Given the description of an element on the screen output the (x, y) to click on. 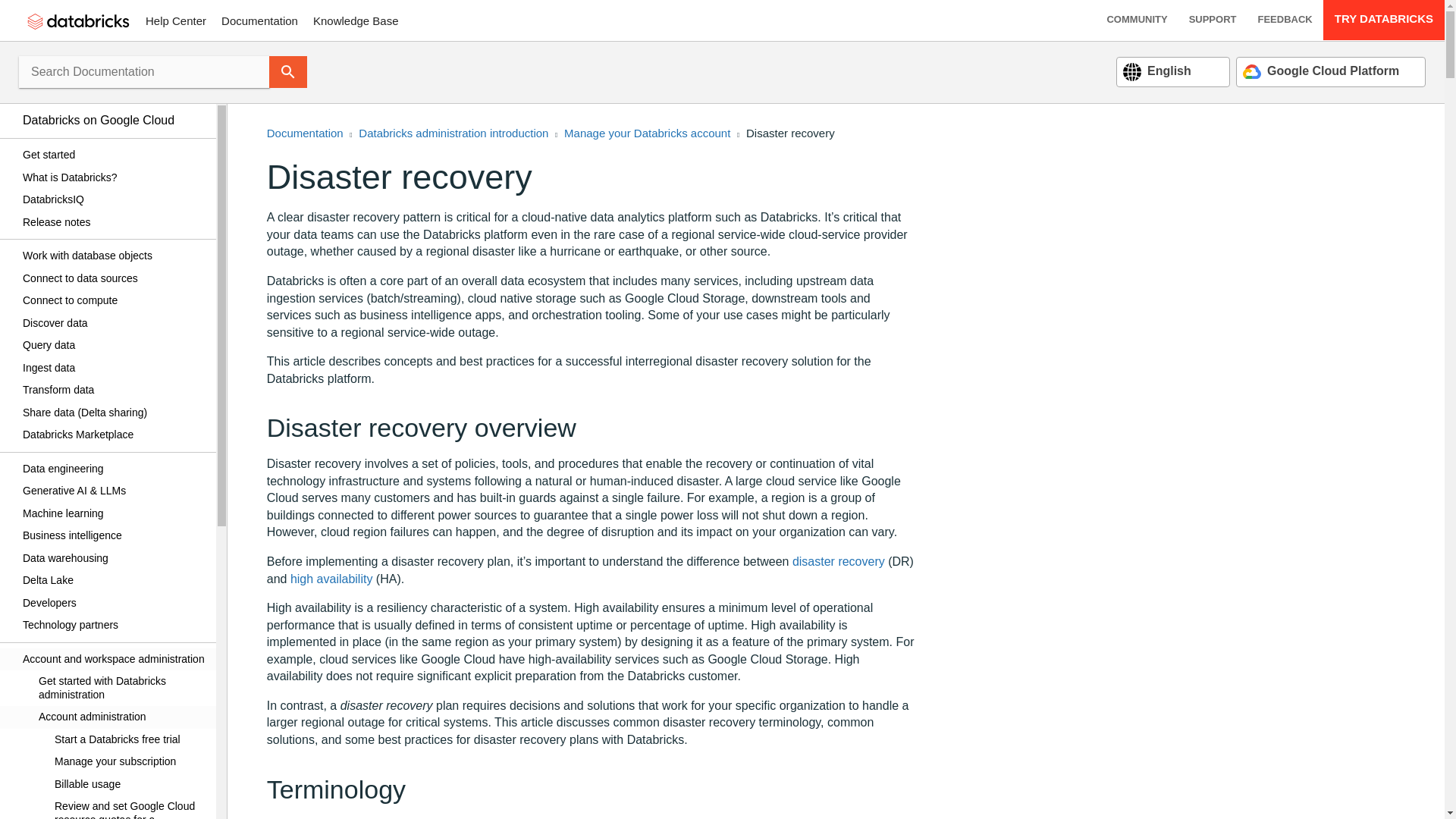
Machine learning (113, 513)
SUPPORT (1212, 19)
Business intelligence (113, 535)
Work with database objects (113, 255)
Release notes (113, 221)
Databricks Marketplace (113, 435)
Query data (113, 345)
COMMUNITY (1136, 19)
What is Databricks? (113, 178)
Get started with Databricks administration (113, 687)
